Given the description of an element on the screen output the (x, y) to click on. 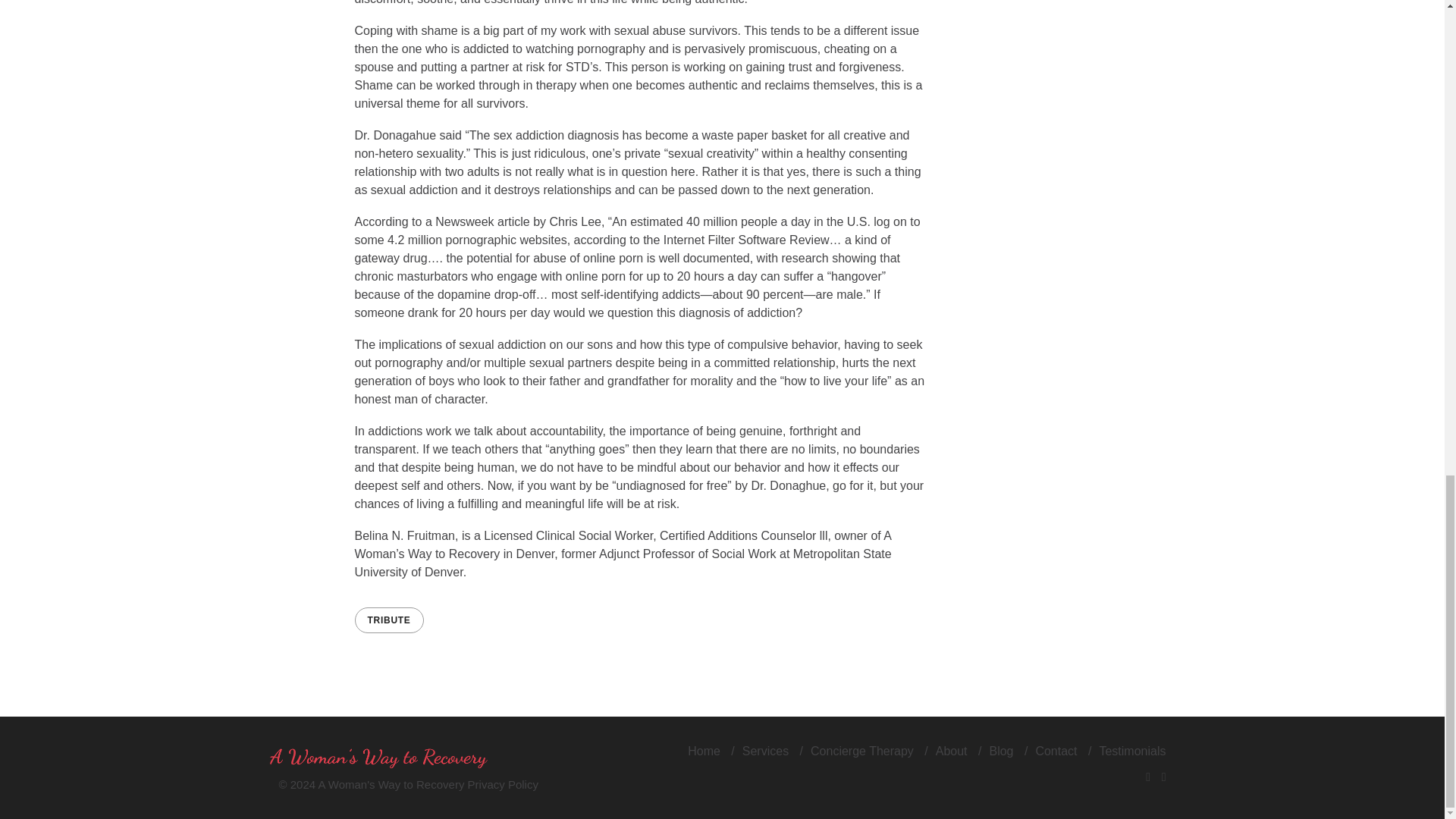
TRIBUTE (389, 620)
Services (765, 750)
Home (703, 750)
About (952, 750)
Concierge Therapy (862, 750)
Blog (1000, 750)
